Given the description of an element on the screen output the (x, y) to click on. 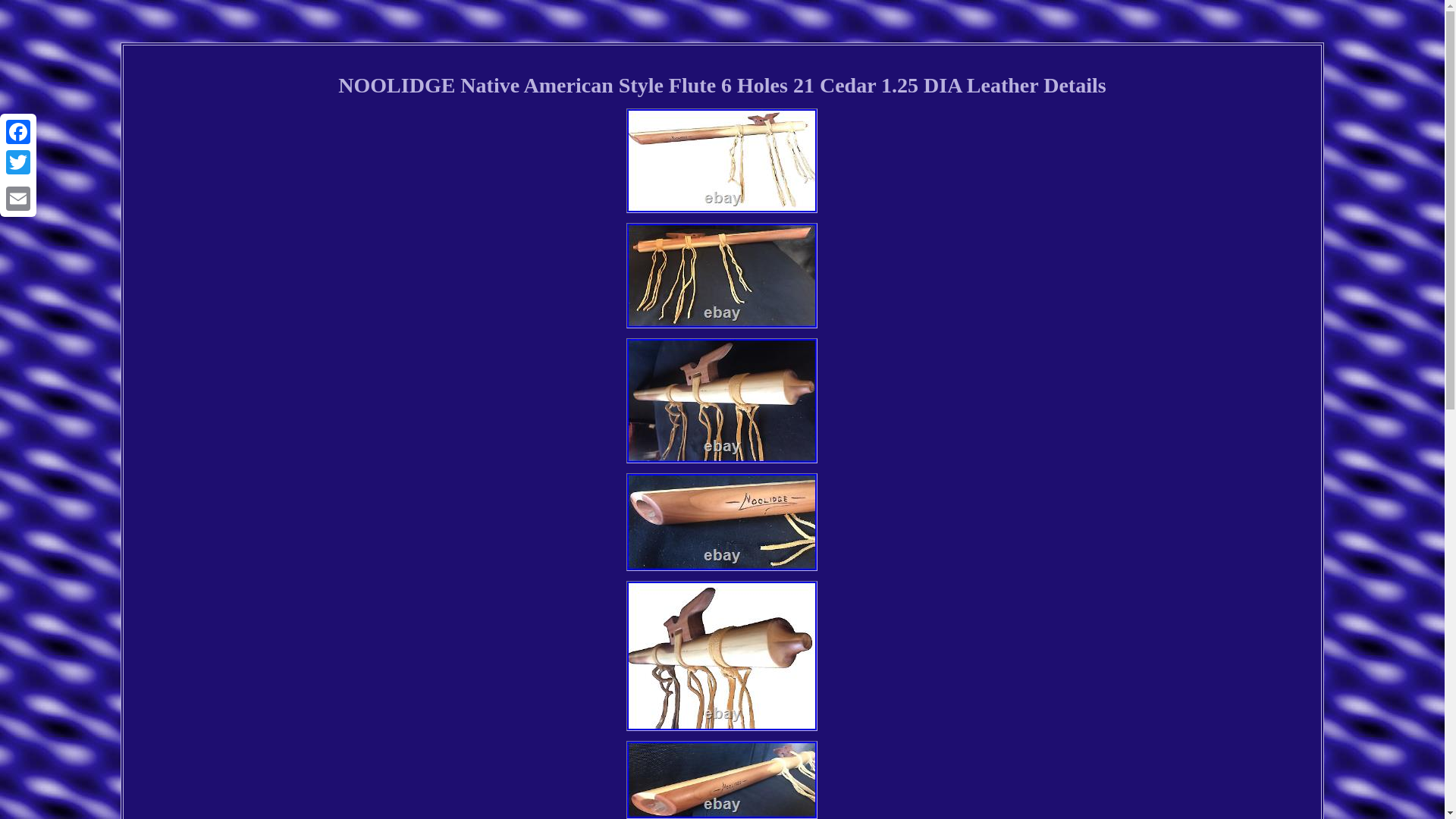
Email (17, 198)
Facebook (17, 132)
Twitter (17, 162)
